Given the description of an element on the screen output the (x, y) to click on. 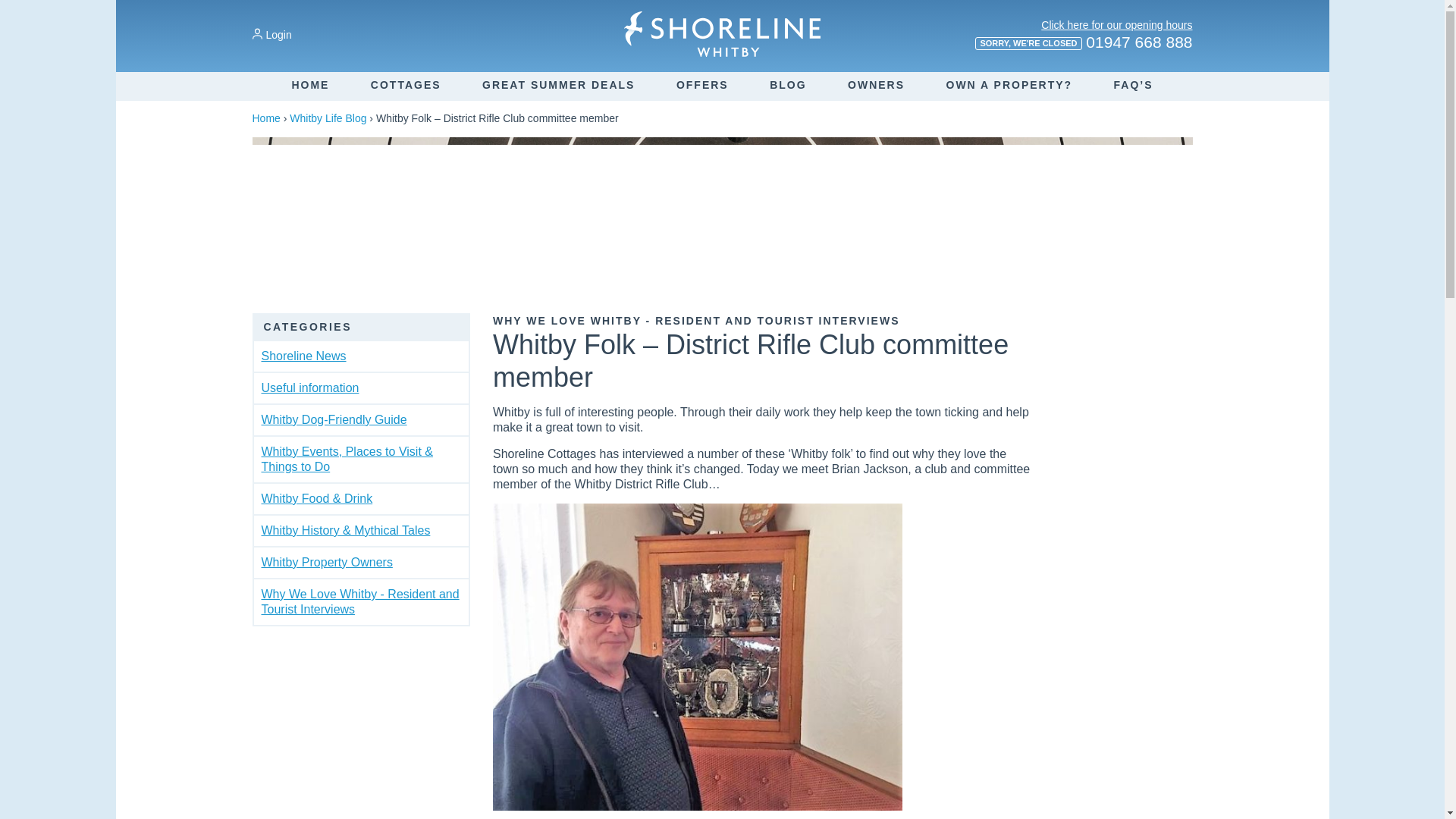
SORRY, WE'RE CLOSED 01947 668 888 (1083, 46)
COTTAGES (406, 84)
HOME (310, 84)
Shoreline News (303, 355)
OWN A PROPERTY? (1009, 84)
Useful information (309, 387)
OFFERS (703, 84)
Whitby Property Owners (325, 562)
Click here for our opening hours (1116, 24)
Why We Love Whitby - Resident and Tourist Interviews (359, 601)
OWNERS (875, 84)
Whitby Life Blog (327, 118)
GREAT SUMMER DEALS (557, 84)
Home (265, 118)
Shoreline Whitby Cottages (722, 33)
